Given the description of an element on the screen output the (x, y) to click on. 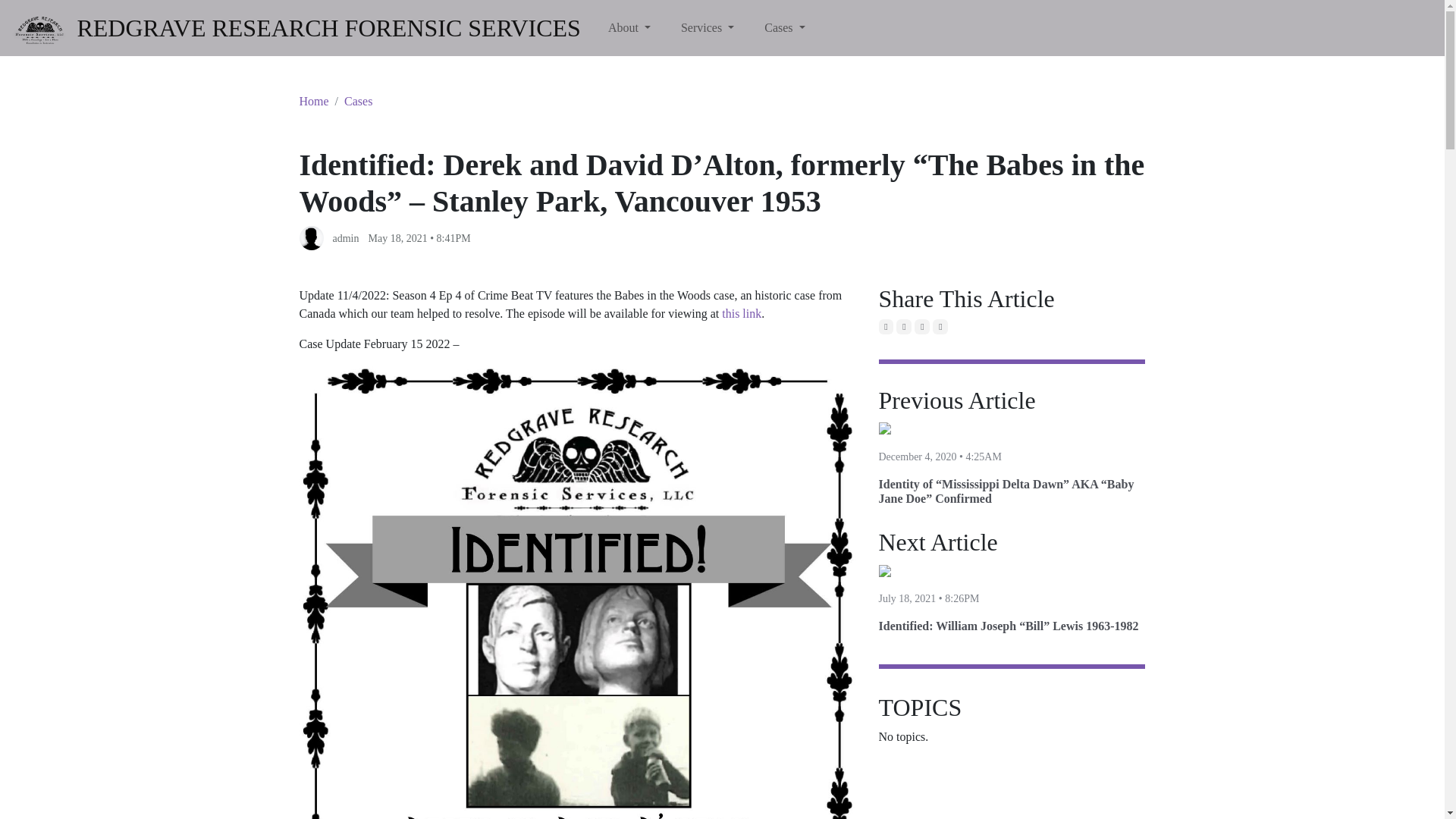
Home (313, 101)
Cases (357, 101)
REDGRAVE RESEARCH FORENSIC SERVICES (294, 27)
About (628, 28)
Services (707, 28)
this link (741, 313)
Cases (784, 28)
